Given the description of an element on the screen output the (x, y) to click on. 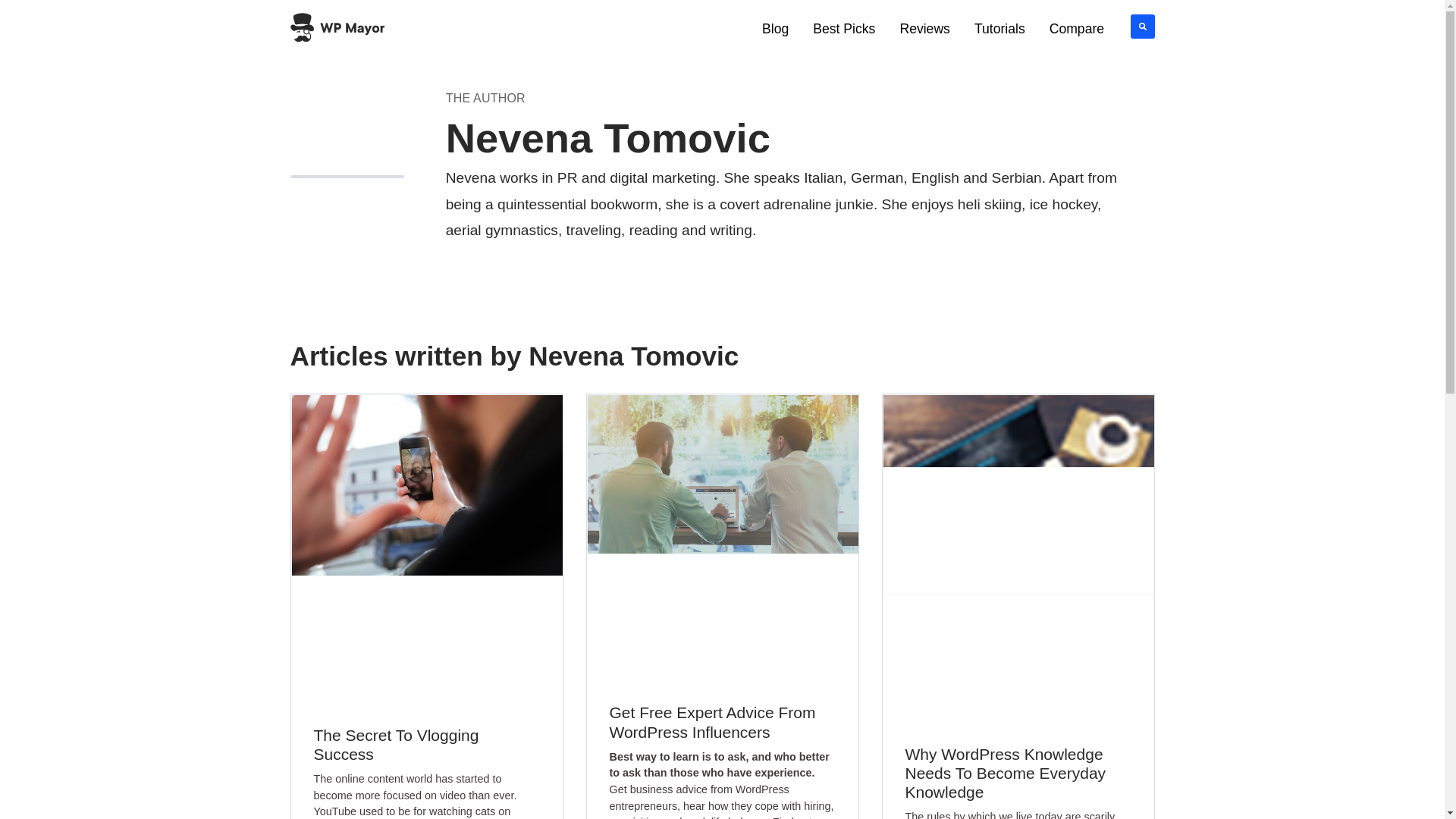
Compare (1076, 28)
Why WordPress Knowledge Needs To Become Everyday Knowledge (1005, 772)
Reviews (924, 28)
Tutorials (999, 28)
The Secret To Vlogging Success (396, 744)
Best Picks (843, 28)
Get Free Expert Advice From WordPress Influencers (712, 721)
Blog (774, 28)
